Given the description of an element on the screen output the (x, y) to click on. 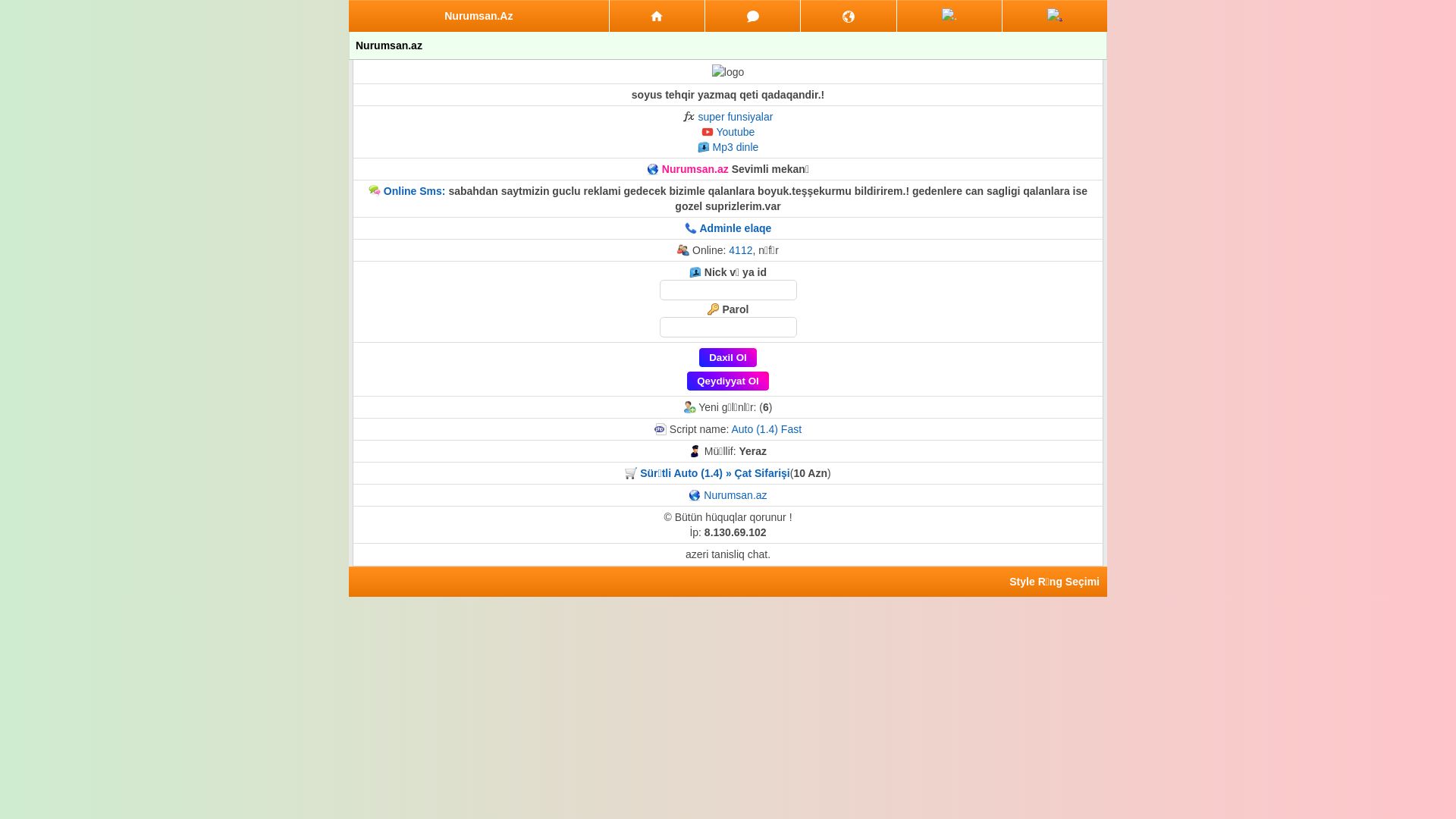
Daxil Ol Element type: text (727, 357)
Qonaqlar Element type: hover (949, 15)
Parol Element type: hover (728, 326)
Youtube Element type: text (734, 131)
Adminle elaqe Element type: text (735, 228)
nick Element type: hover (728, 289)
4112 Element type: text (740, 250)
Bildirisler Element type: hover (847, 15)
Qeydiyyat Ol Element type: text (727, 380)
Qeydiyyat Element type: hover (1054, 15)
super funsiyalar Element type: text (735, 116)
Auto (1.4) Fast Element type: text (766, 429)
Nurumsan.az Element type: text (734, 495)
Online Sms: Element type: text (414, 191)
Mp3 dinle Element type: text (735, 147)
Mesajlar Element type: hover (752, 15)
